Given the description of an element on the screen output the (x, y) to click on. 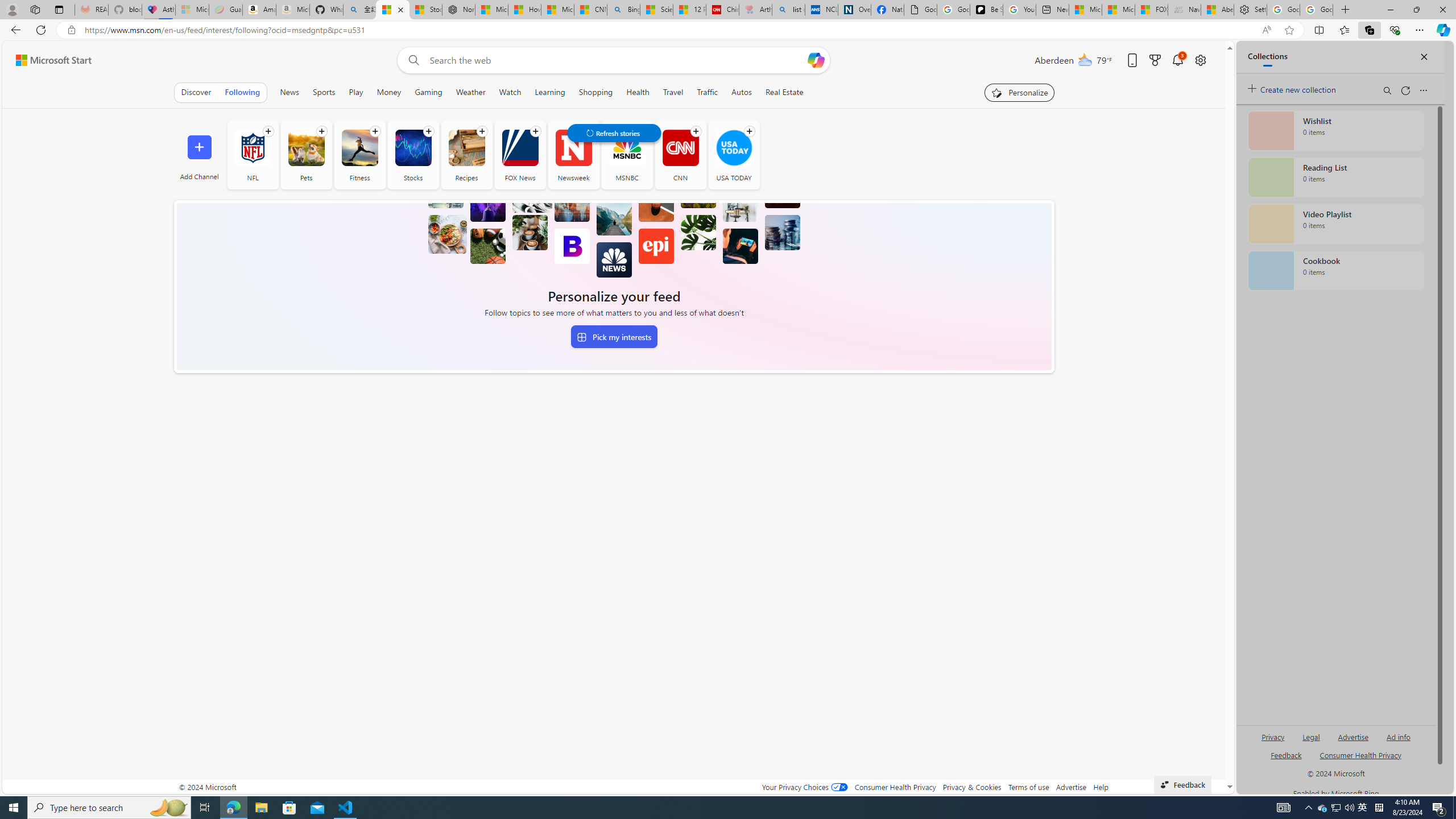
MSNBC (626, 147)
MSNBC (626, 155)
Aberdeen, Hong Kong SAR hourly forecast | Microsoft Weather (1217, 9)
CNN (680, 147)
Stocks (413, 155)
NCL Adult Asthma Inhaler Choice Guideline (821, 9)
Money (389, 92)
Autos (741, 92)
Mostly cloudy (1085, 59)
